Given the description of an element on the screen output the (x, y) to click on. 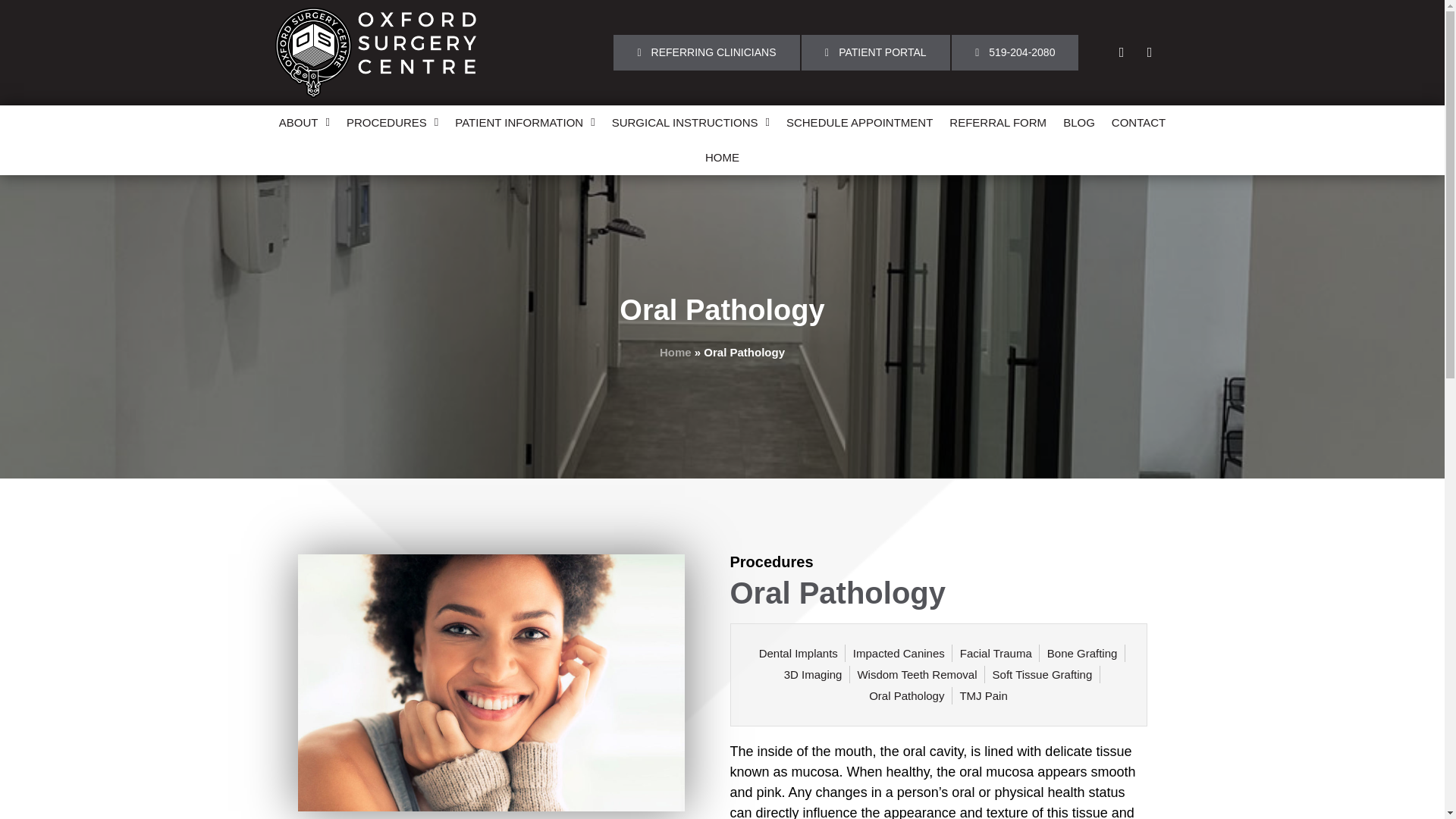
PROCEDURES (391, 122)
ABOUT (303, 122)
CONTACT (1138, 122)
PATIENT INFORMATION (524, 122)
519-204-2080 (1015, 52)
REFERRAL FORM (997, 122)
HOME (722, 157)
SURGICAL INSTRUCTIONS (690, 122)
REFERRING CLINICIANS (705, 52)
Oral Pathology (490, 682)
